Given the description of an element on the screen output the (x, y) to click on. 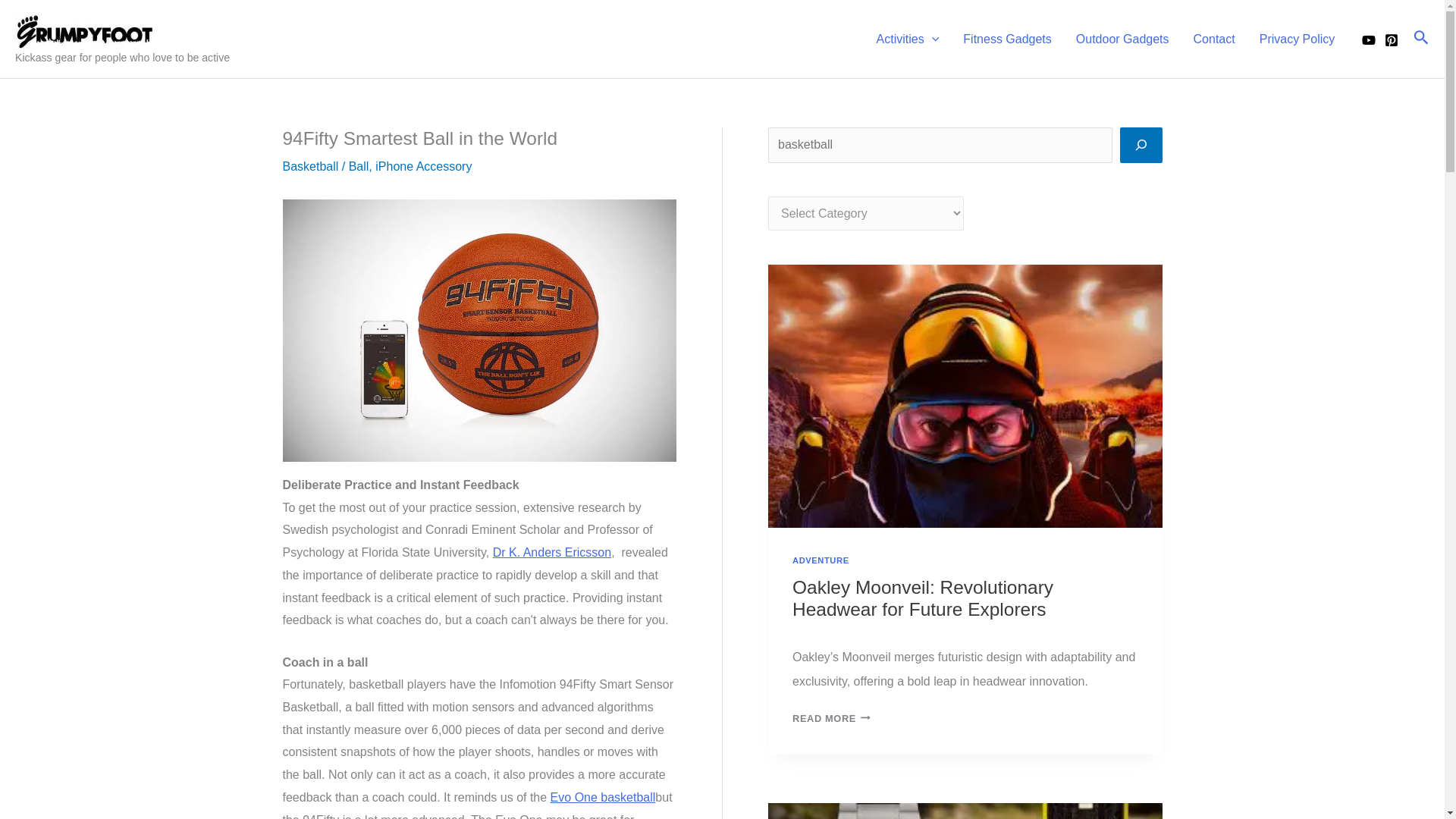
Activities (908, 39)
